Given the description of an element on the screen output the (x, y) to click on. 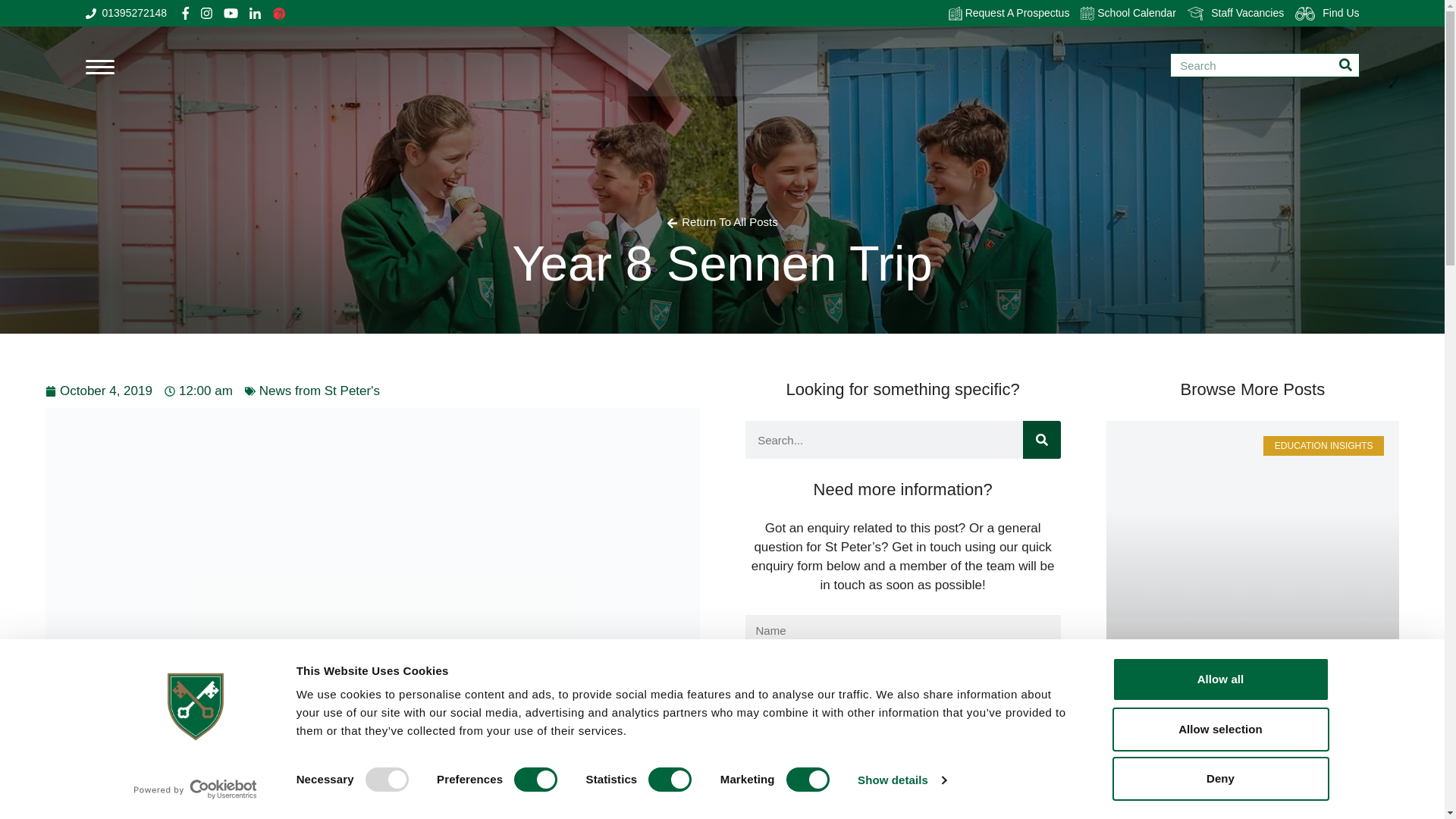
Search for: (1264, 64)
Deny (1219, 778)
Show details (900, 780)
Allow selection (1219, 728)
Allow all (1219, 679)
